Given the description of an element on the screen output the (x, y) to click on. 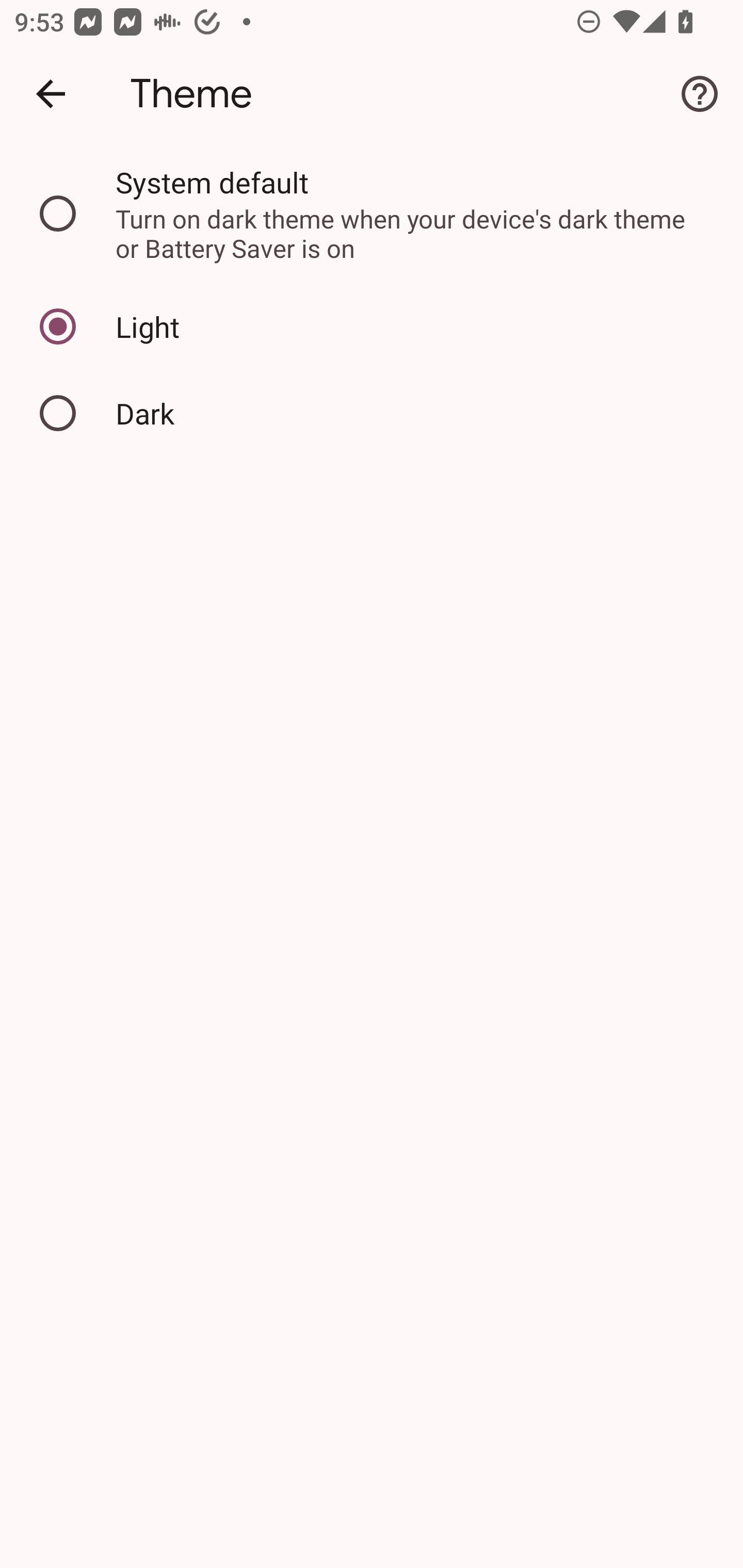
Navigate up (50, 93)
Help & feedback (699, 93)
Light (371, 326)
Dark (371, 413)
